Given the description of an element on the screen output the (x, y) to click on. 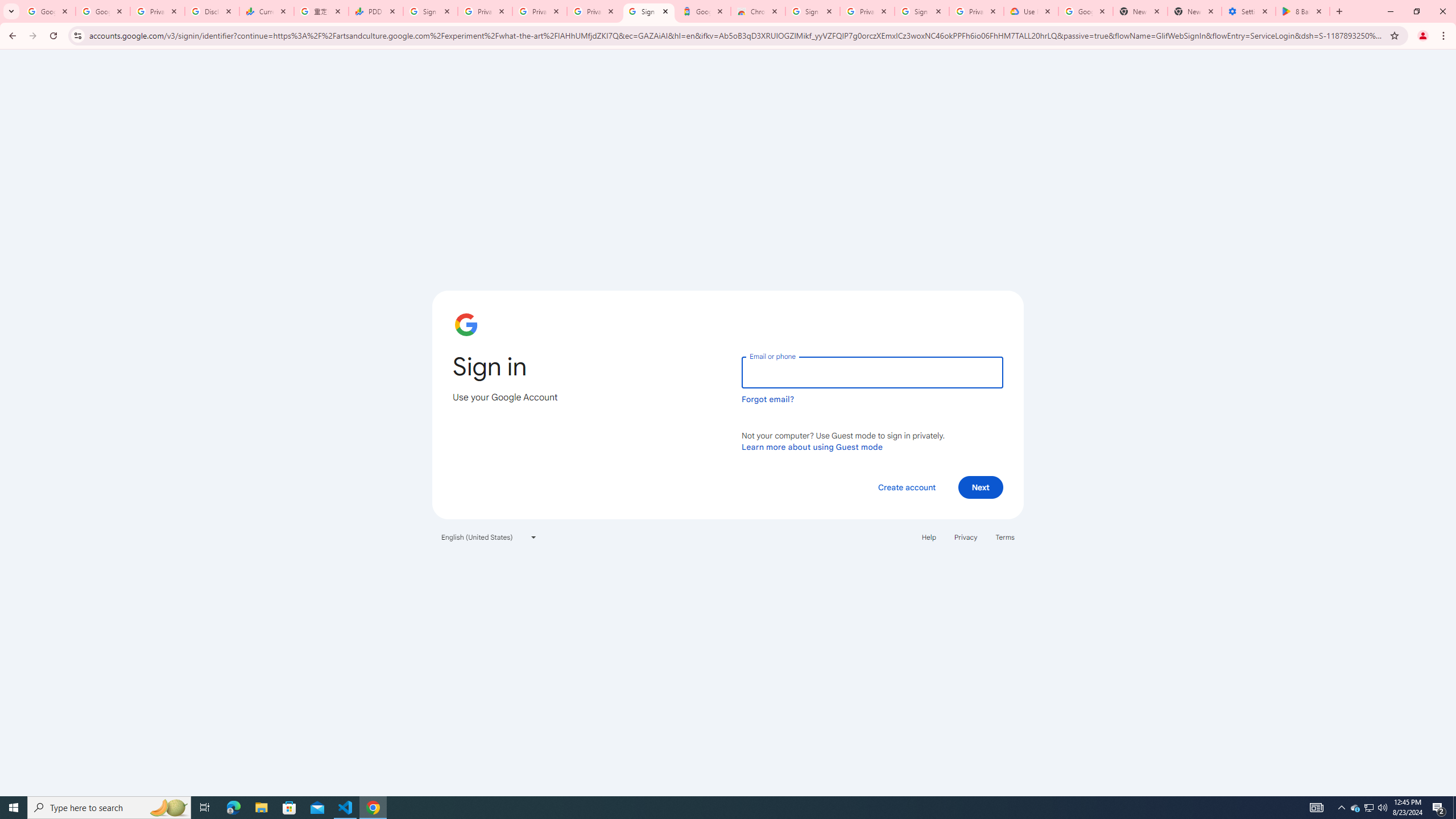
Help (928, 536)
Currencies - Google Finance (266, 11)
Google Workspace Admin Community (48, 11)
Privacy (965, 536)
